Given the description of an element on the screen output the (x, y) to click on. 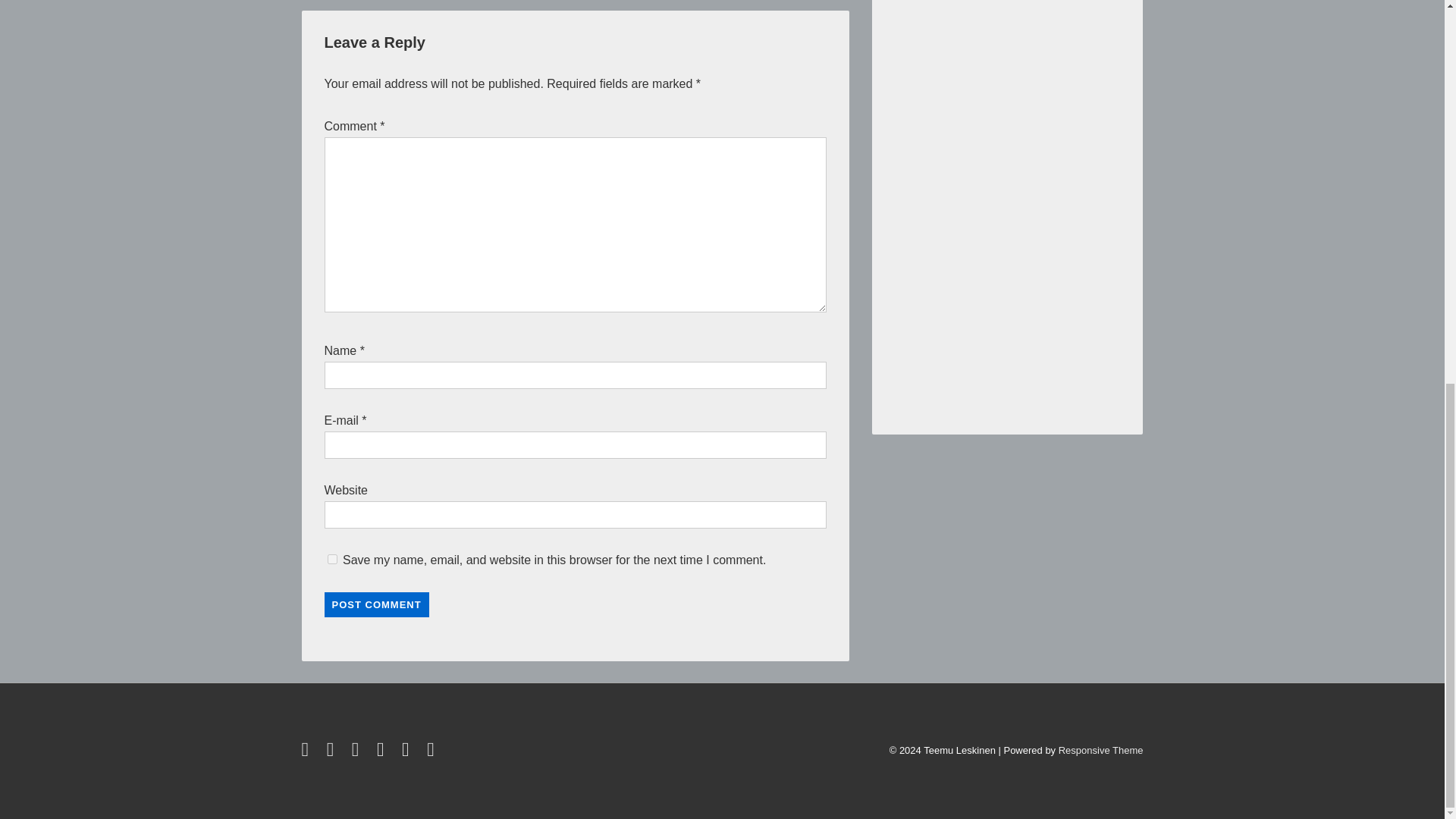
yes (332, 559)
linkedin (358, 752)
instagram (432, 752)
rss (407, 752)
twitter (308, 752)
Post Comment (376, 604)
youtube (383, 752)
facebook (333, 752)
Post Comment (376, 604)
Advertisement (1006, 206)
